Given the description of an element on the screen output the (x, y) to click on. 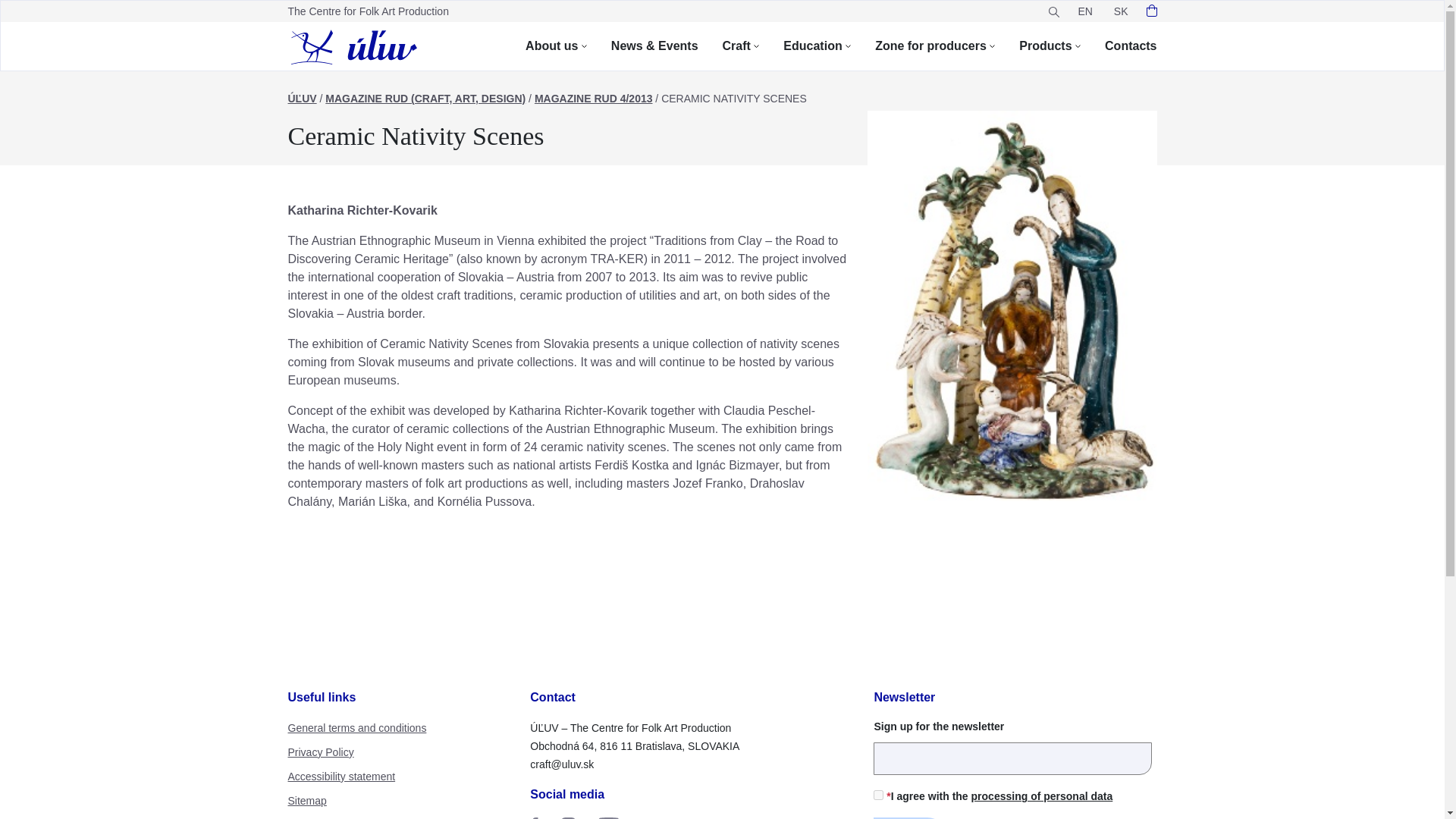
Send (908, 818)
1 (878, 795)
EN (1084, 10)
SK (1120, 10)
